Given the description of an element on the screen output the (x, y) to click on. 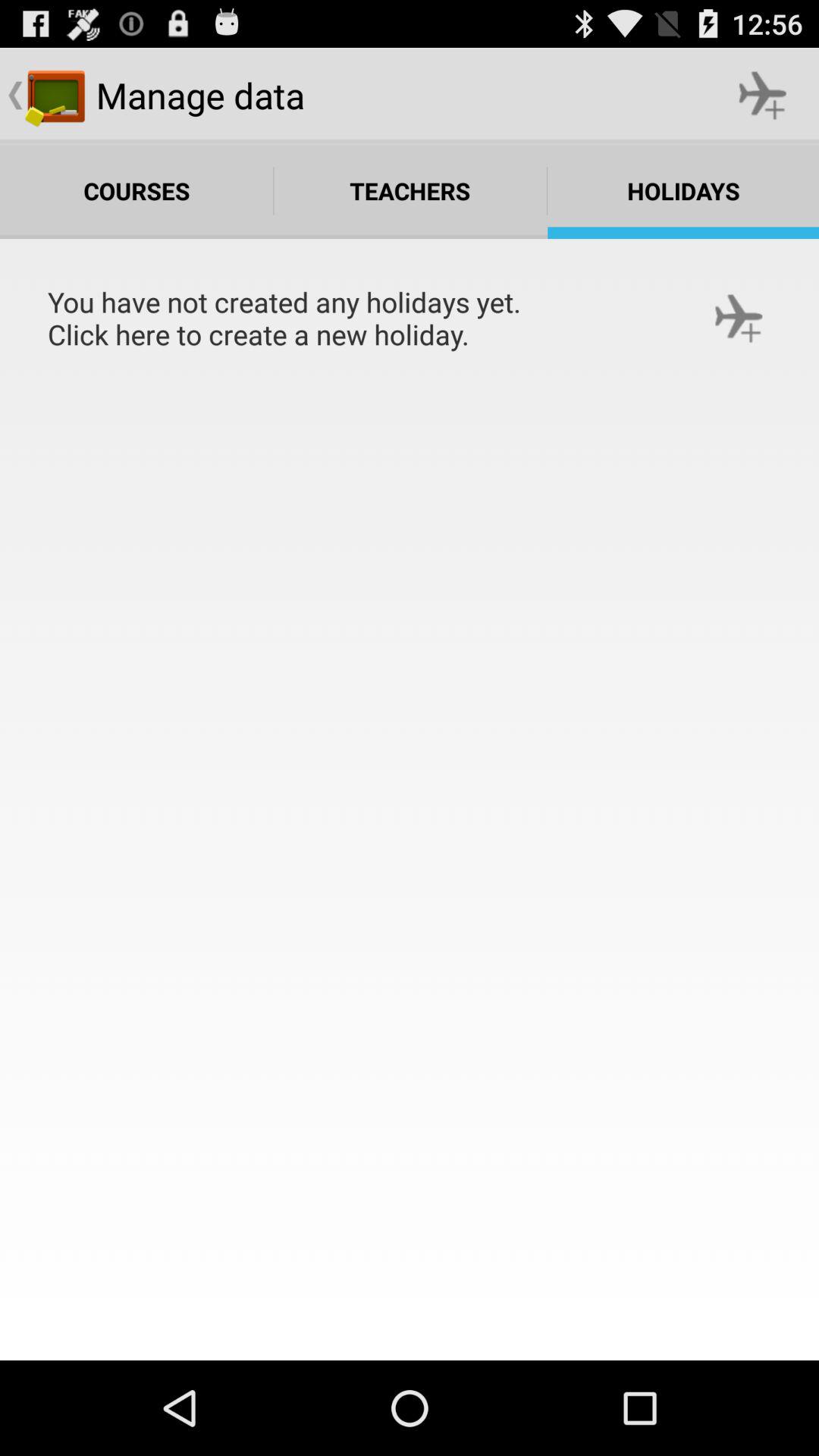
select the app next to the manage data item (763, 95)
